Given the description of an element on the screen output the (x, y) to click on. 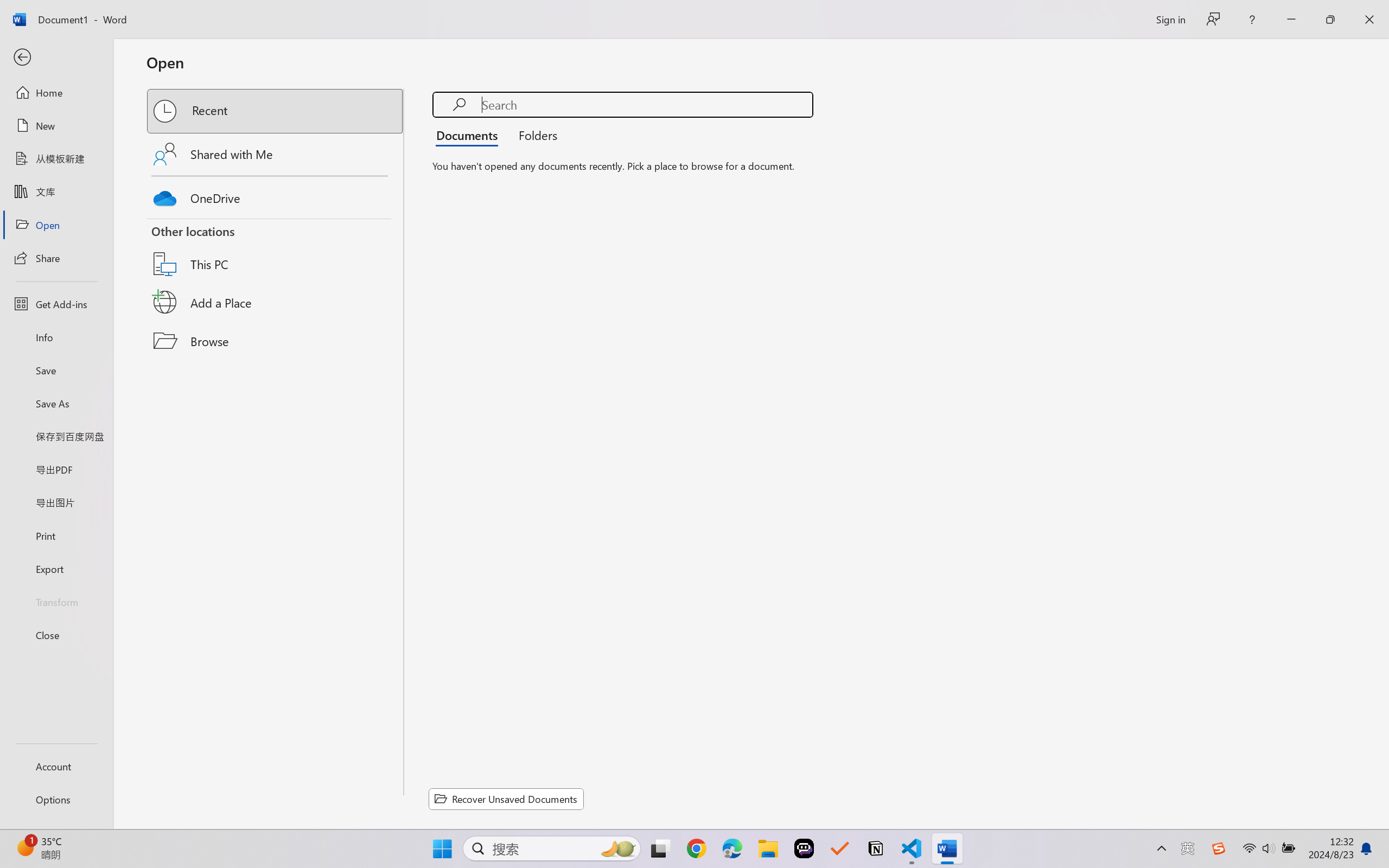
Add a Place (275, 302)
Folders (534, 134)
New (56, 125)
Info (56, 337)
Documents (469, 134)
Options (56, 798)
